Given the description of an element on the screen output the (x, y) to click on. 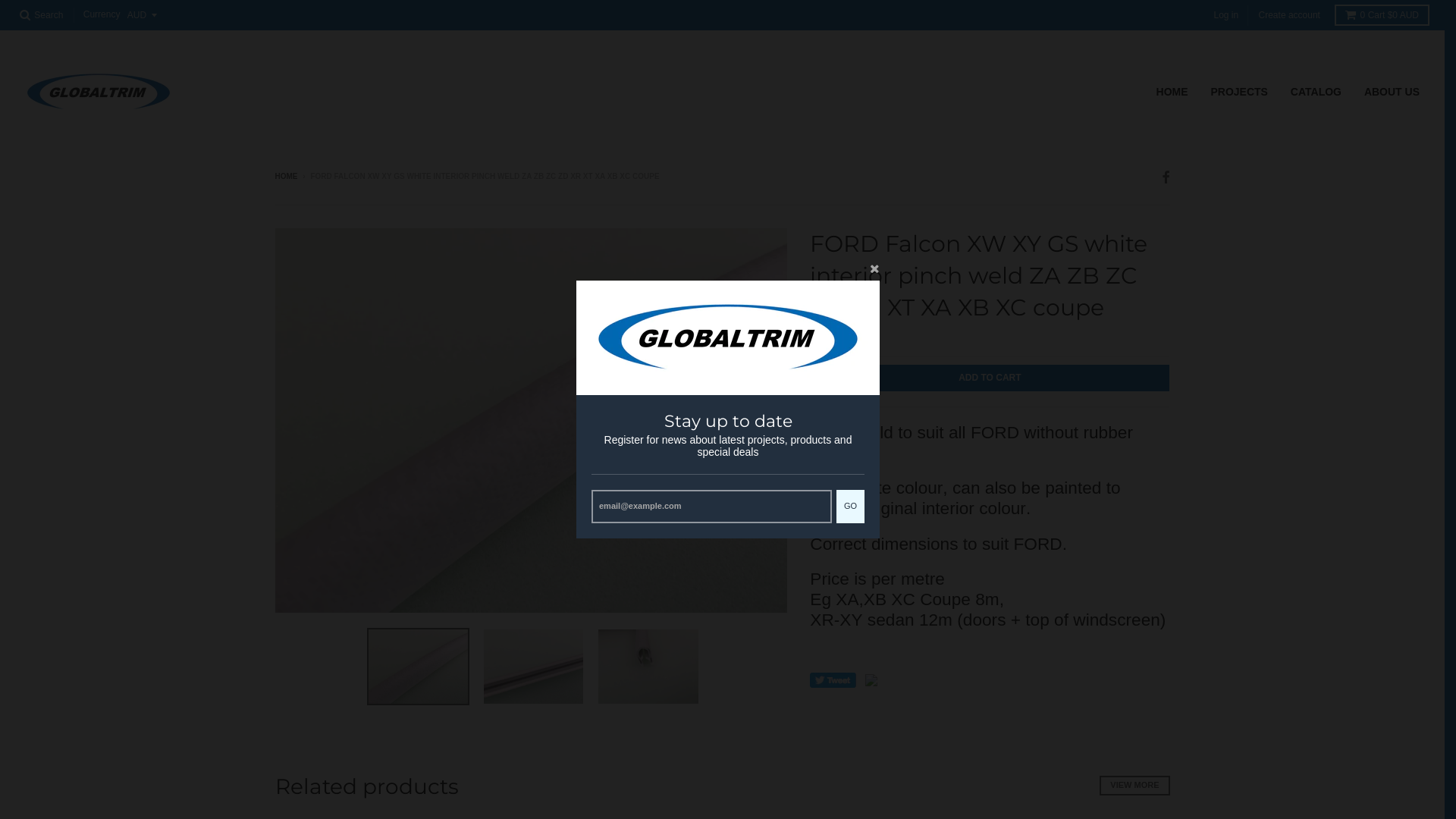
ABOUT US Element type: text (1391, 91)
ADD TO CART Element type: text (989, 377)
HOME Element type: text (285, 176)
Search Element type: text (41, 14)
0 Cart $0 AUD Element type: text (1381, 14)
VIEW MORE Element type: text (1134, 785)
GlobalTrim on Facebook Element type: hover (1165, 177)
HOME Element type: text (1172, 91)
Create account Element type: text (1289, 14)
CATALOG Element type: text (1315, 91)
GO Element type: text (850, 506)
Tweet Element type: text (832, 679)
Log in Element type: text (1225, 14)
PROJECTS Element type: text (1238, 91)
